Given the description of an element on the screen output the (x, y) to click on. 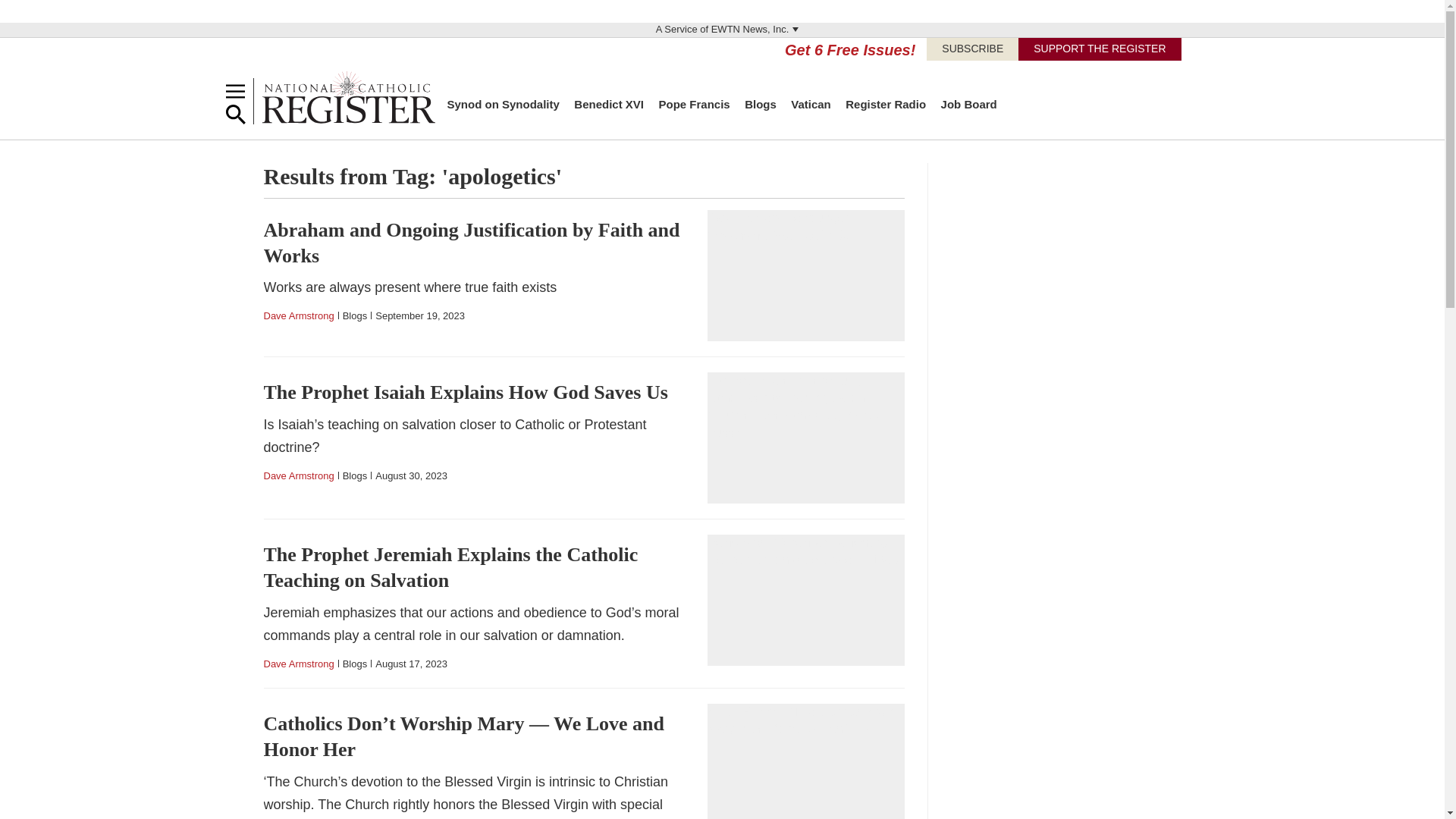
Synod on Synodality (502, 103)
Get 6 Free Issues! (849, 49)
Benedict XVI (608, 103)
Pope Francis (693, 103)
SUPPORT THE REGISTER (1098, 48)
Register Radio (885, 103)
Vatican (810, 103)
Blogs (760, 103)
SUBSCRIBE (971, 48)
